Given the description of an element on the screen output the (x, y) to click on. 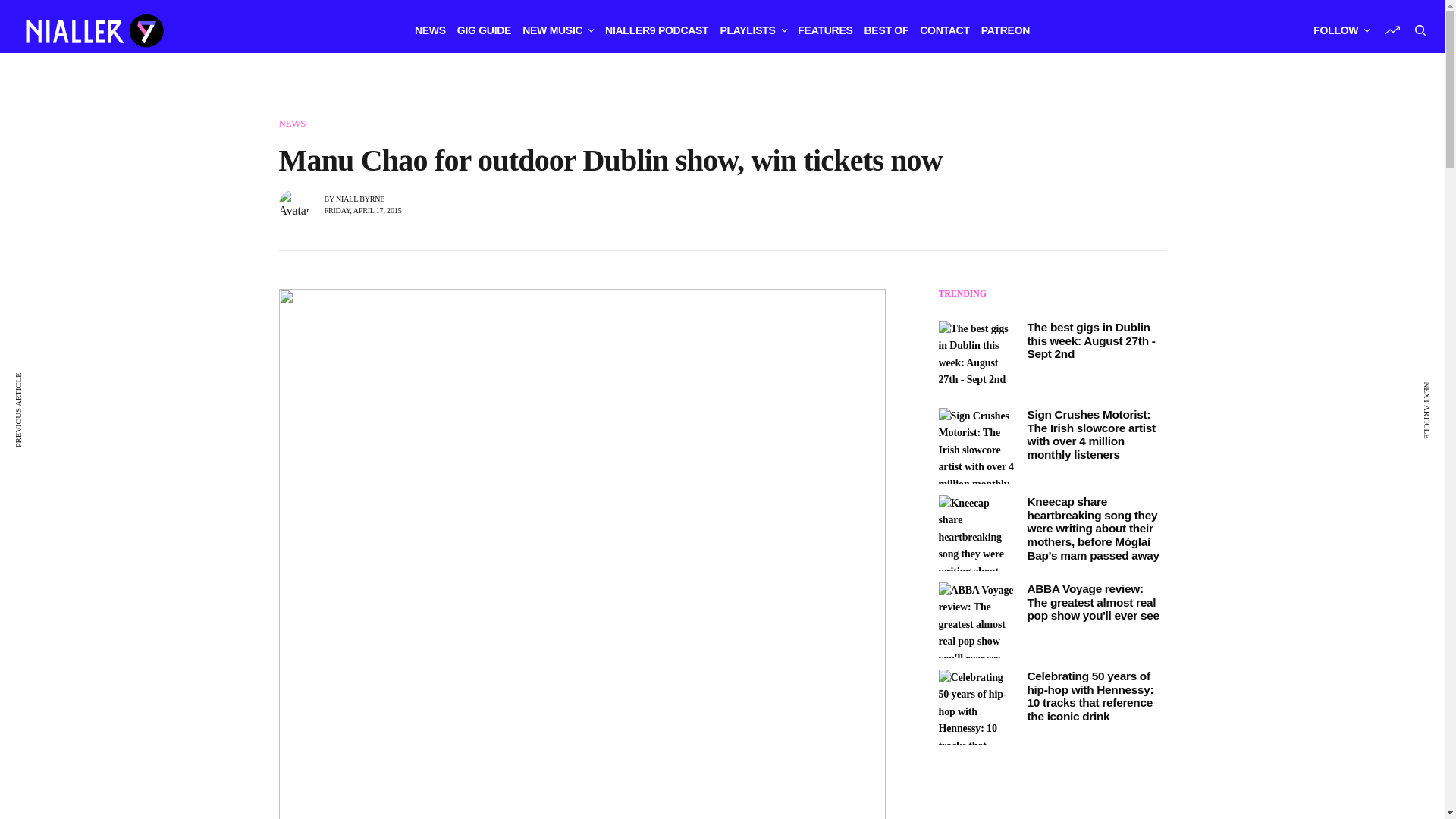
Playlists (752, 30)
Nialler9 (92, 30)
Best Of (886, 30)
